Given the description of an element on the screen output the (x, y) to click on. 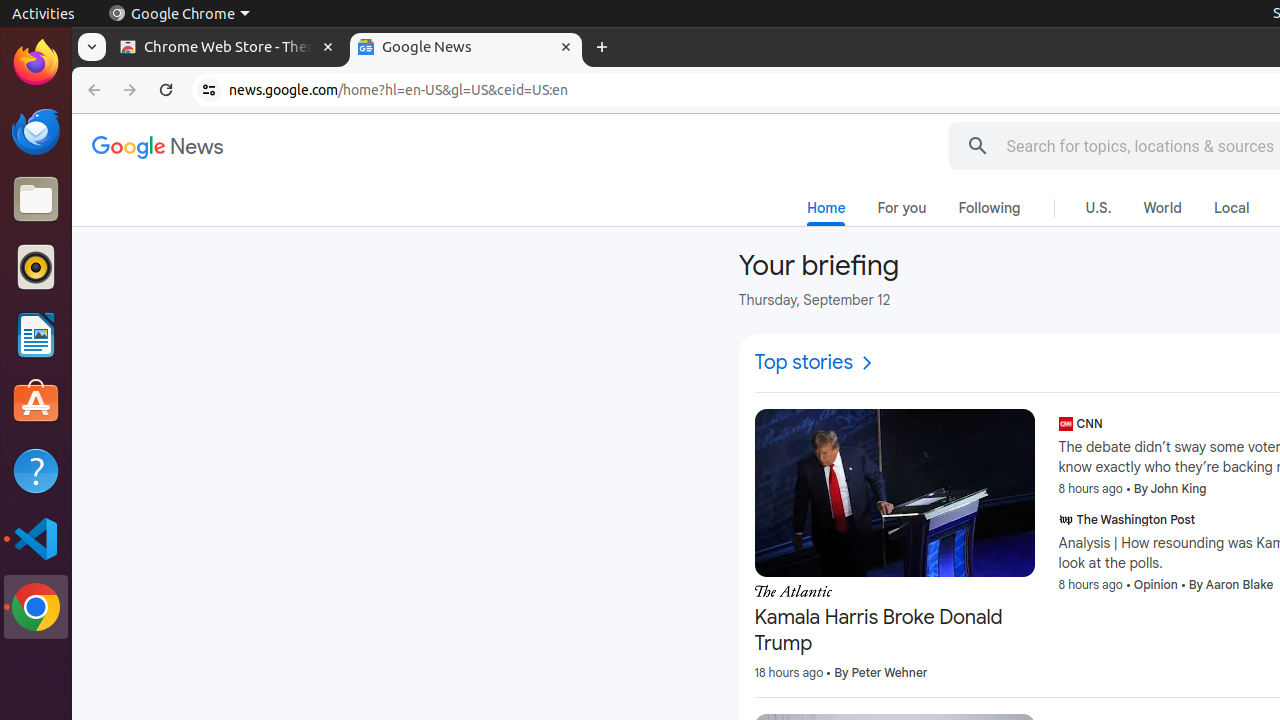
Reload Element type: push-button (166, 90)
U.S. Element type: menu-item (1098, 208)
Files Element type: push-button (36, 199)
Local Element type: menu-item (1231, 208)
Kamala Harris Broke Donald Trump Element type: link (894, 631)
